Given the description of an element on the screen output the (x, y) to click on. 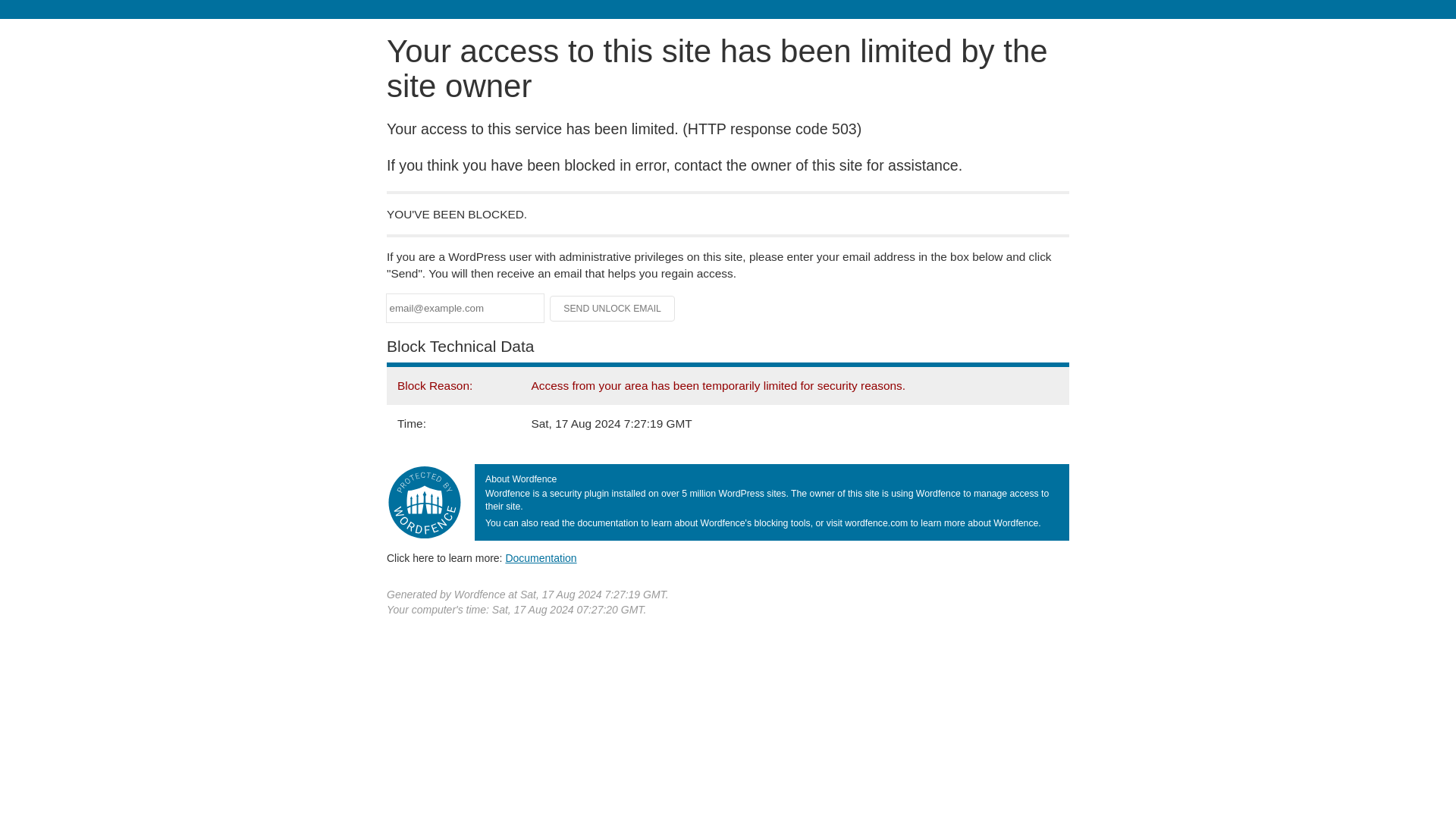
Send Unlock Email (612, 308)
Documentation (540, 558)
Send Unlock Email (612, 308)
